Given the description of an element on the screen output the (x, y) to click on. 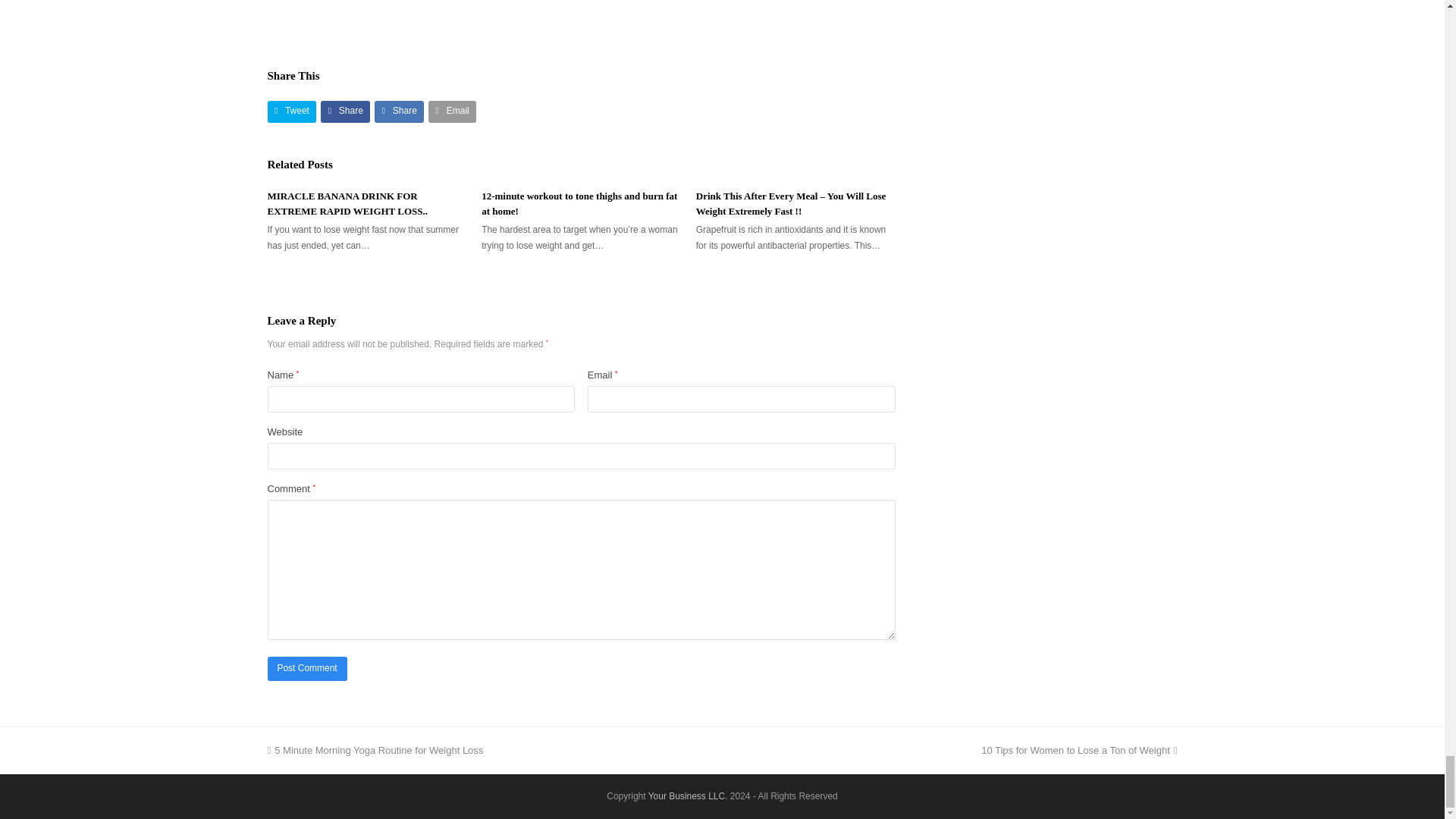
Share (398, 111)
12-minute workout to tone thighs and burn fat at home! (579, 203)
MIRACLE BANANA DRINK FOR EXTREME RAPID WEIGHT LOSS.. (347, 203)
Tweet (290, 111)
Email (452, 111)
Share (344, 111)
Post Comment (306, 668)
Post Comment (306, 668)
